Given the description of an element on the screen output the (x, y) to click on. 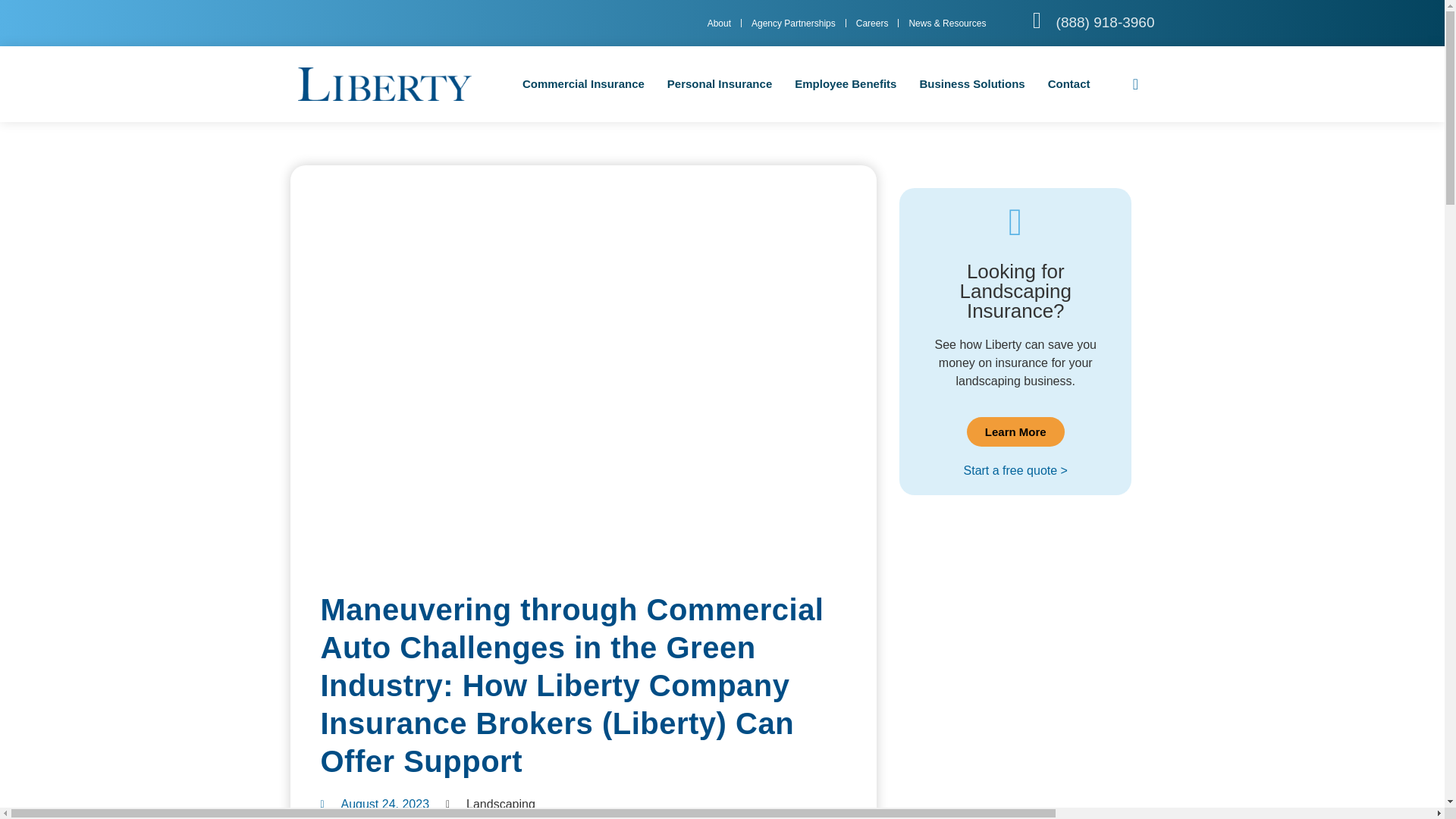
Agency Partnerships (793, 23)
About (719, 23)
Business Solutions (971, 84)
Personal Insurance (719, 84)
Commercial Insurance (583, 84)
Employee Benefits (845, 84)
Careers (871, 23)
